Given the description of an element on the screen output the (x, y) to click on. 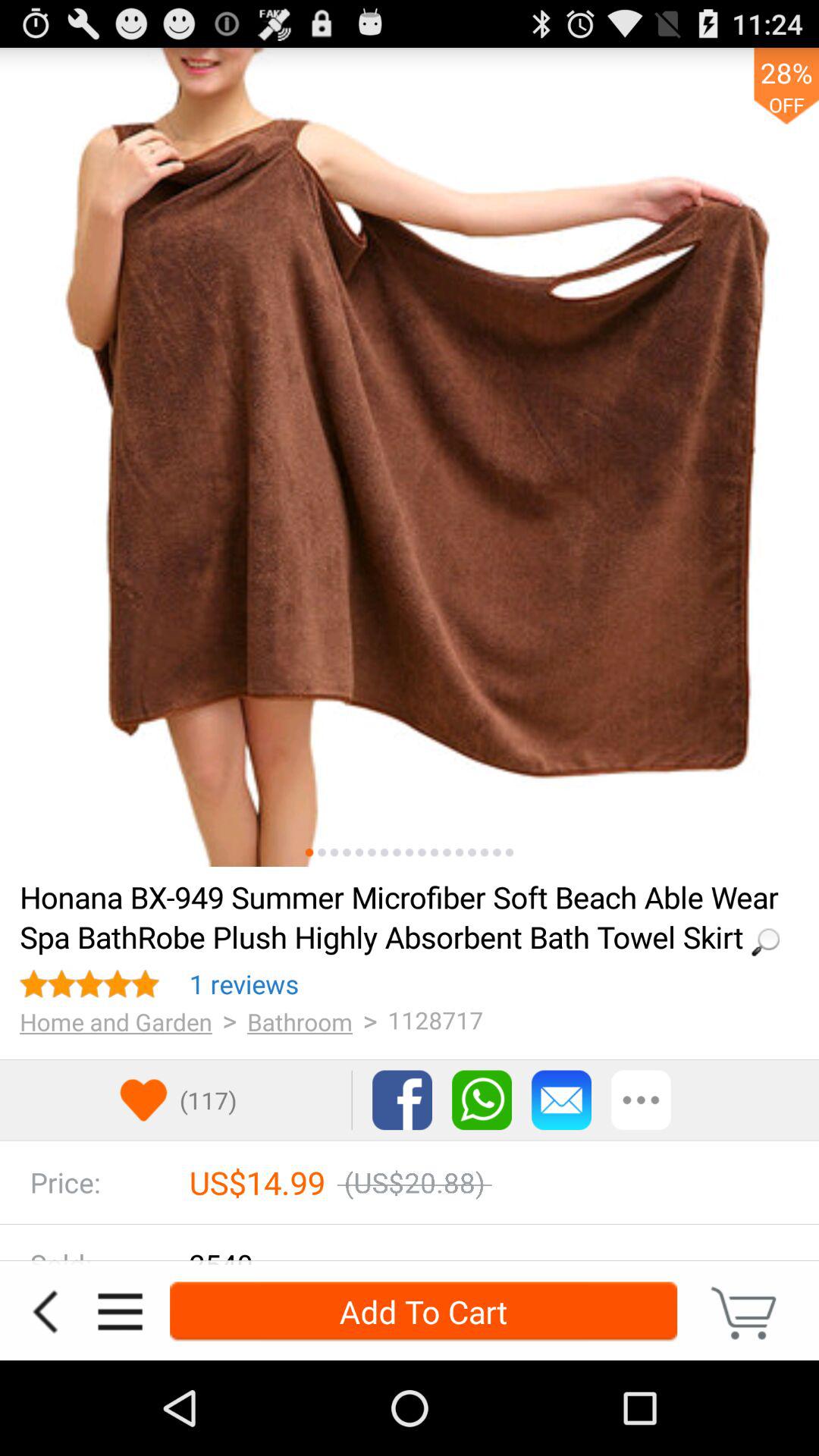
view picture (396, 852)
